Given the description of an element on the screen output the (x, y) to click on. 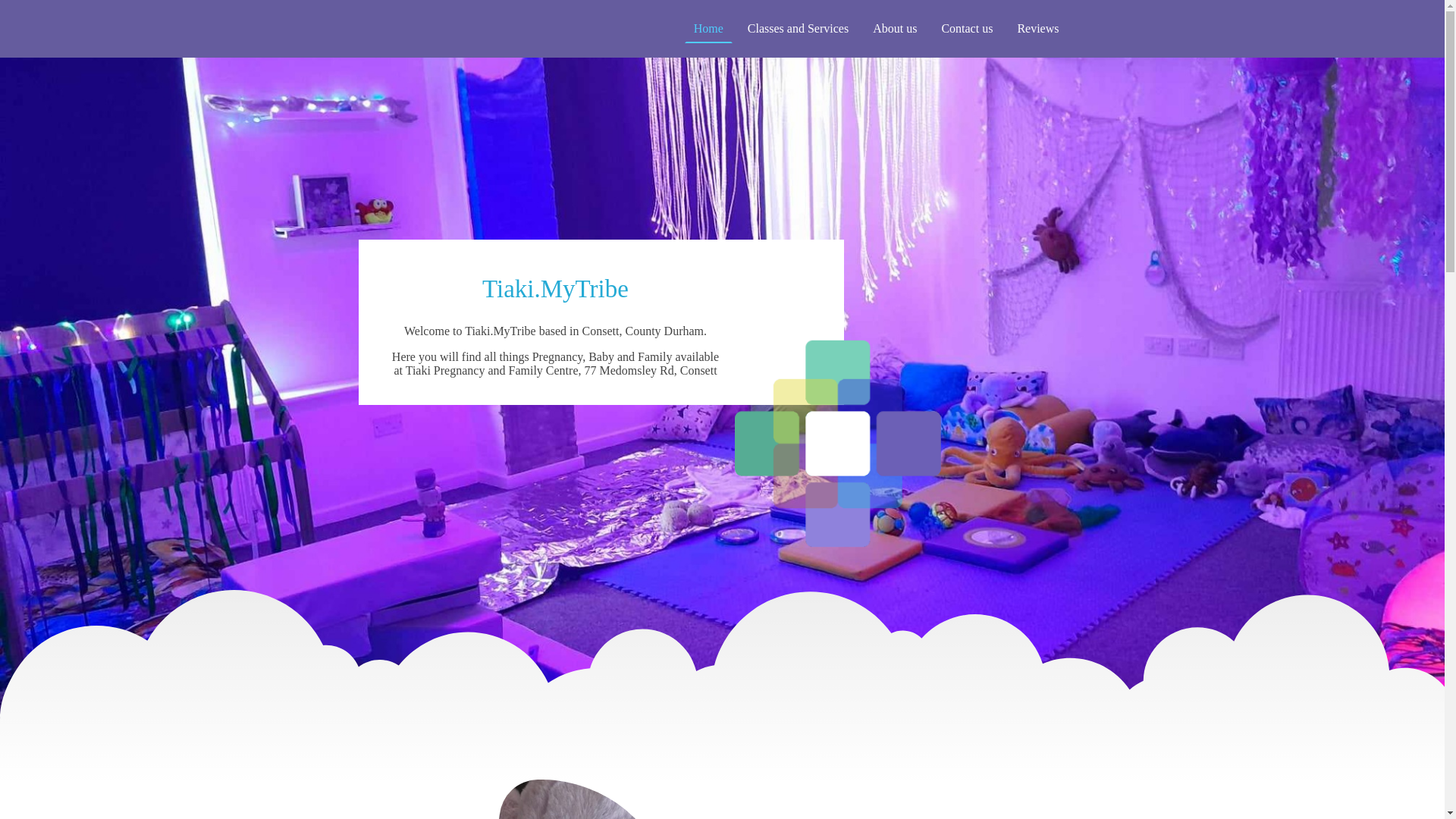
Classes and Services (797, 28)
Reviews (1037, 28)
Home (707, 28)
Contact us (966, 28)
About us (894, 28)
